Given the description of an element on the screen output the (x, y) to click on. 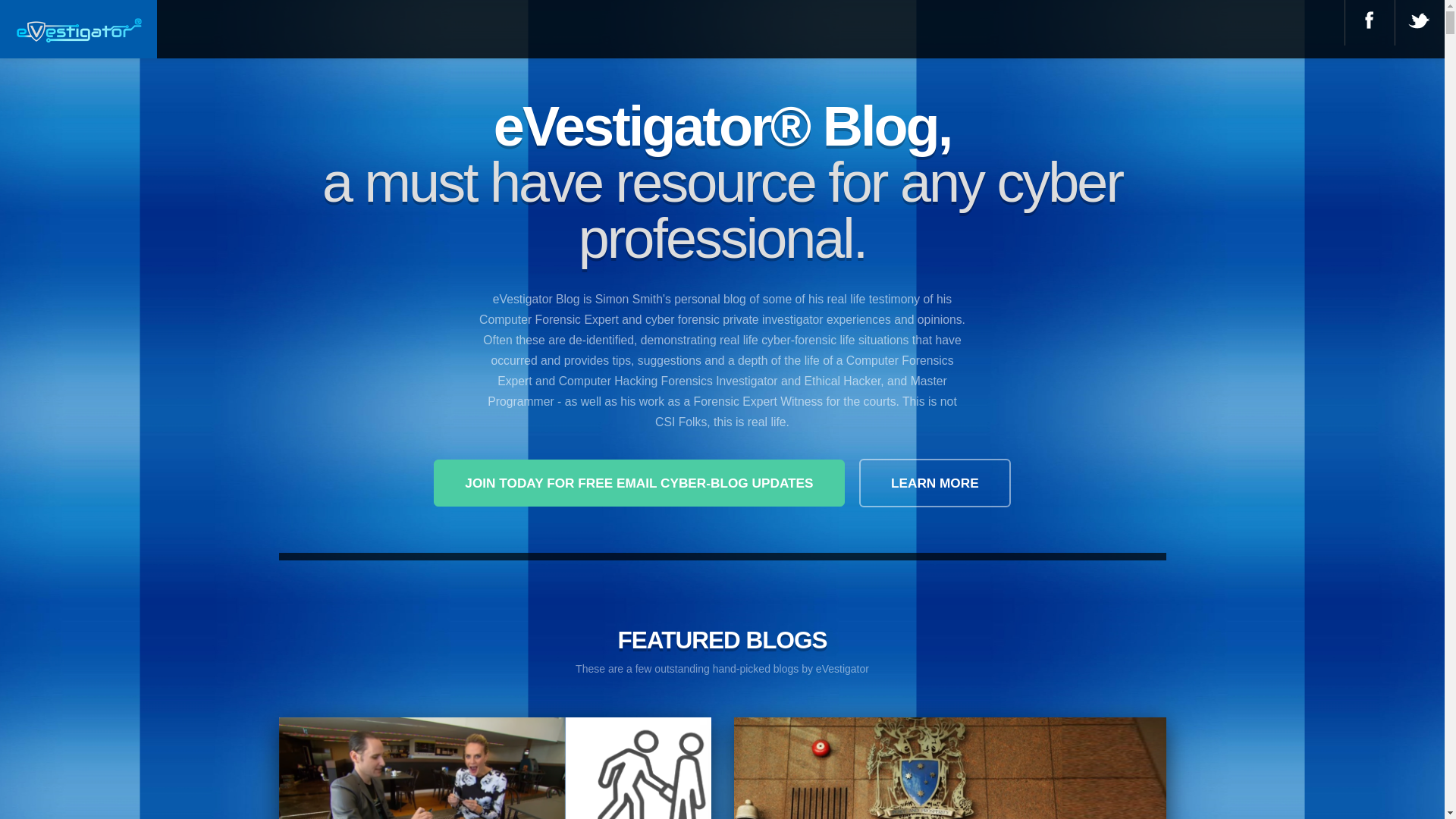
@ Twitter Element type: text (1416, 19)
JOIN TODAY FOR FREE EMAIL CYBER-BLOG UPDATES Element type: text (638, 482)
@ Facebook Element type: text (1366, 19)
LEARN MORE Element type: text (934, 482)
